Given the description of an element on the screen output the (x, y) to click on. 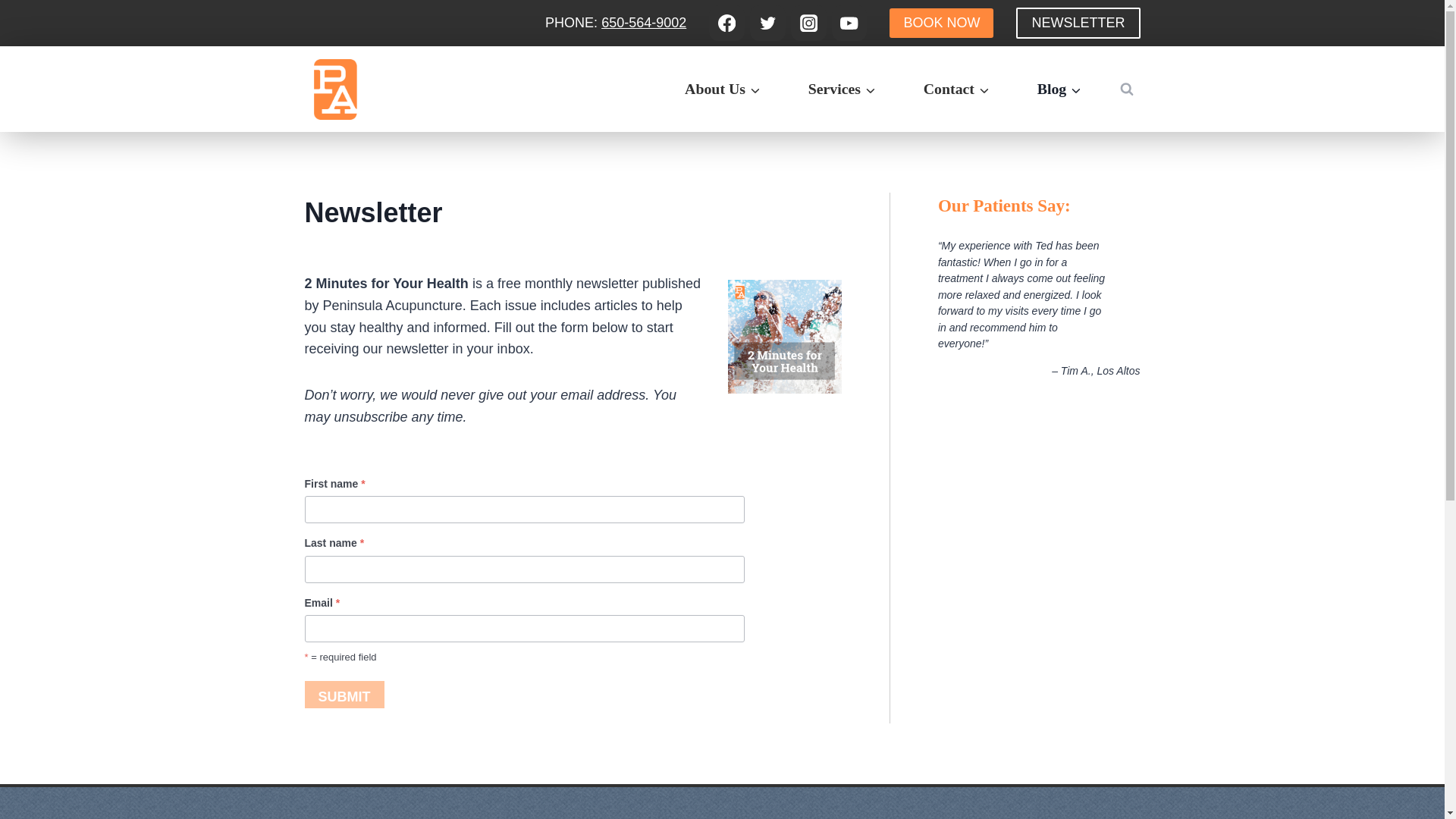
BOOK NOW (940, 22)
Blog (1059, 88)
Contact (956, 88)
NEWSLETTER (1078, 22)
650-564-9002 (643, 22)
Submit (344, 694)
About Us (722, 88)
Services (841, 88)
